Given the description of an element on the screen output the (x, y) to click on. 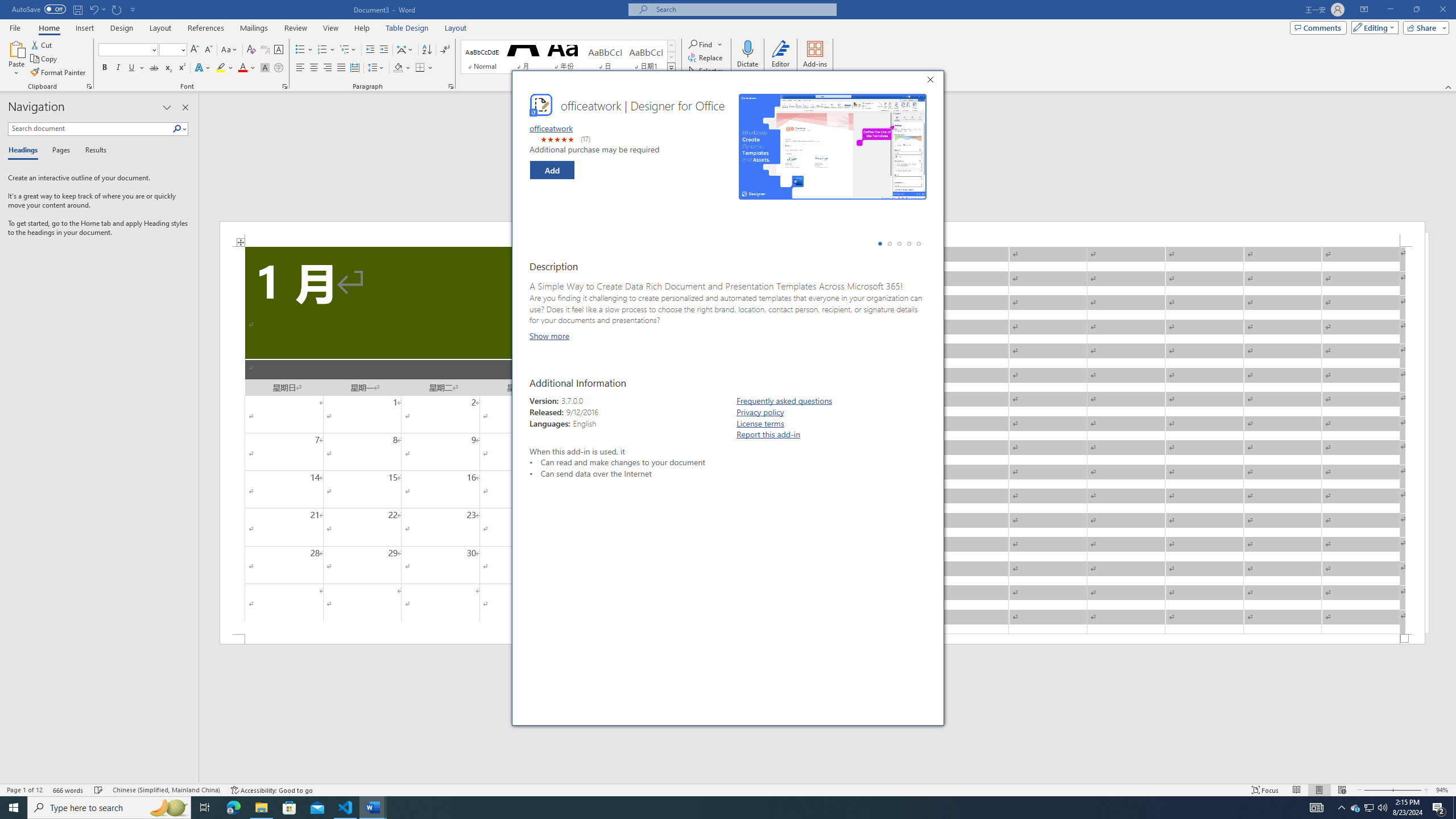
Report this add-in (768, 434)
Page Number Page 1 of 12 (24, 790)
License terms (760, 422)
Font Color RGB(255, 0, 0) (241, 67)
